Given the description of an element on the screen output the (x, y) to click on. 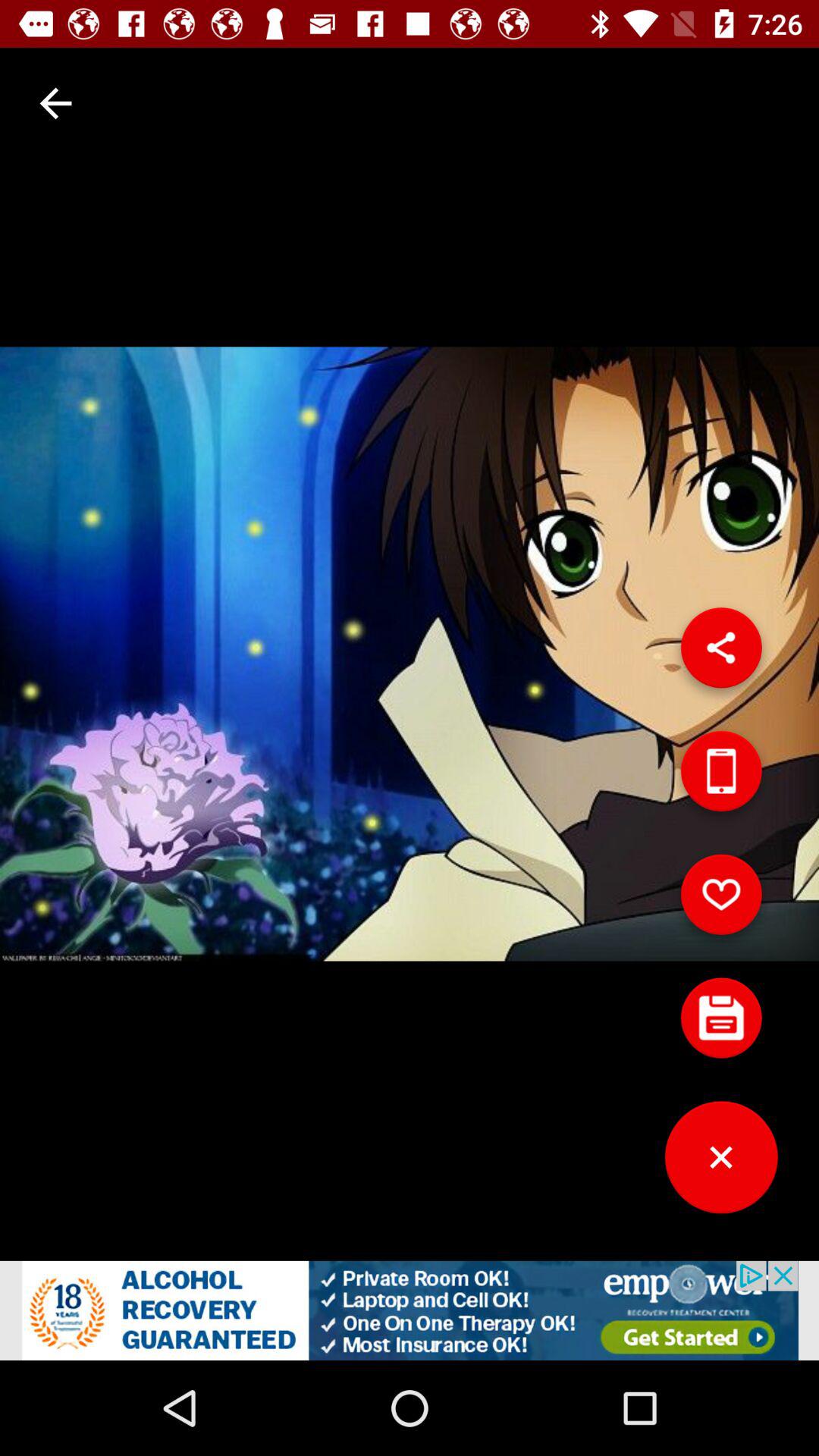
close (721, 1163)
